Given the description of an element on the screen output the (x, y) to click on. 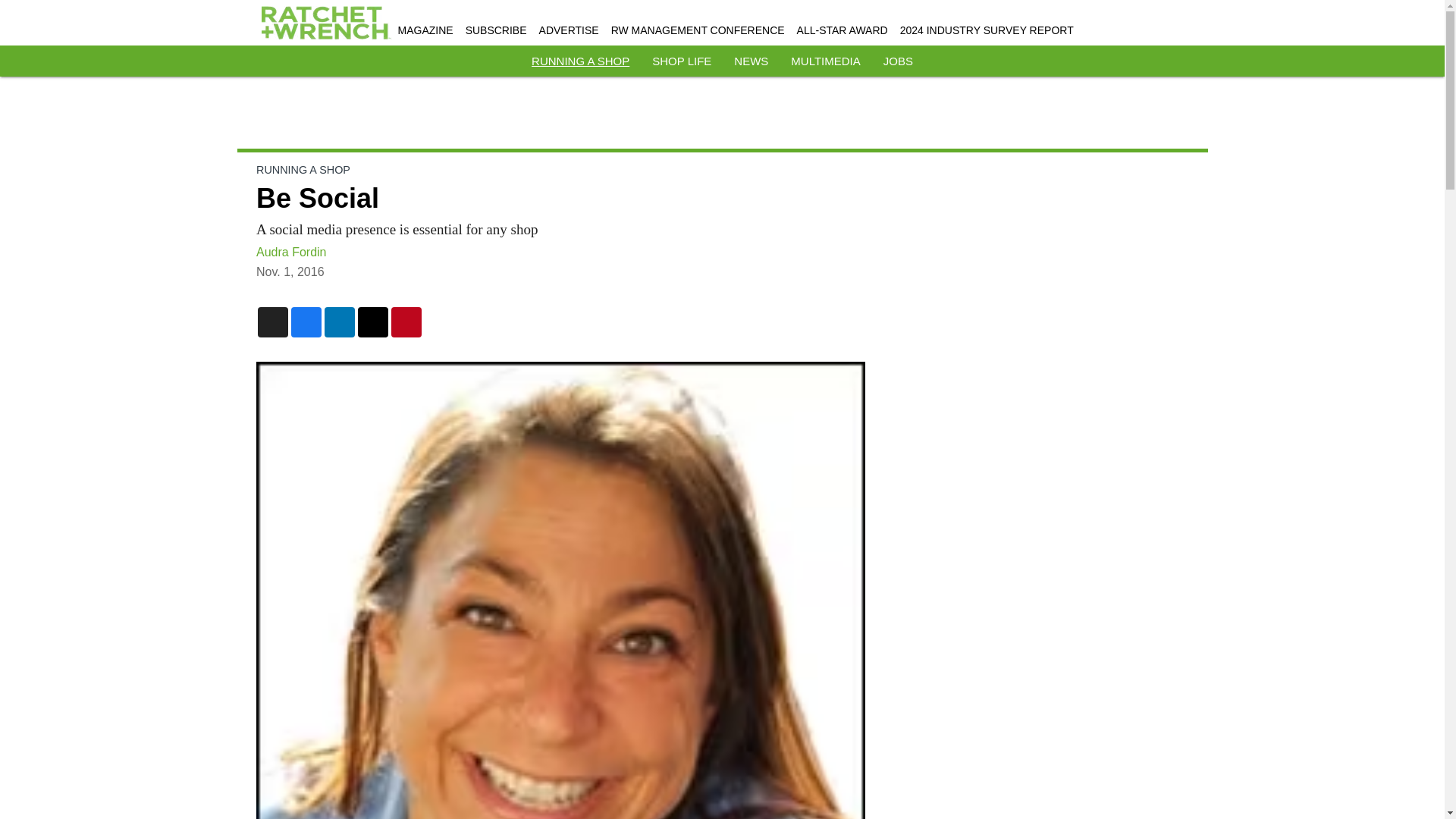
NEWS (750, 60)
RUNNING A SHOP (579, 60)
Audra Fordin (291, 251)
SUBSCRIBE (496, 30)
MULTIMEDIA (825, 60)
ALL-STAR AWARD (842, 30)
SHOP LIFE (681, 60)
JOBS (897, 60)
RUNNING A SHOP (303, 169)
RW MANAGEMENT CONFERENCE (697, 30)
2024 INDUSTRY SURVEY REPORT (986, 30)
ADVERTISE (568, 30)
MAGAZINE (424, 30)
